Given the description of an element on the screen output the (x, y) to click on. 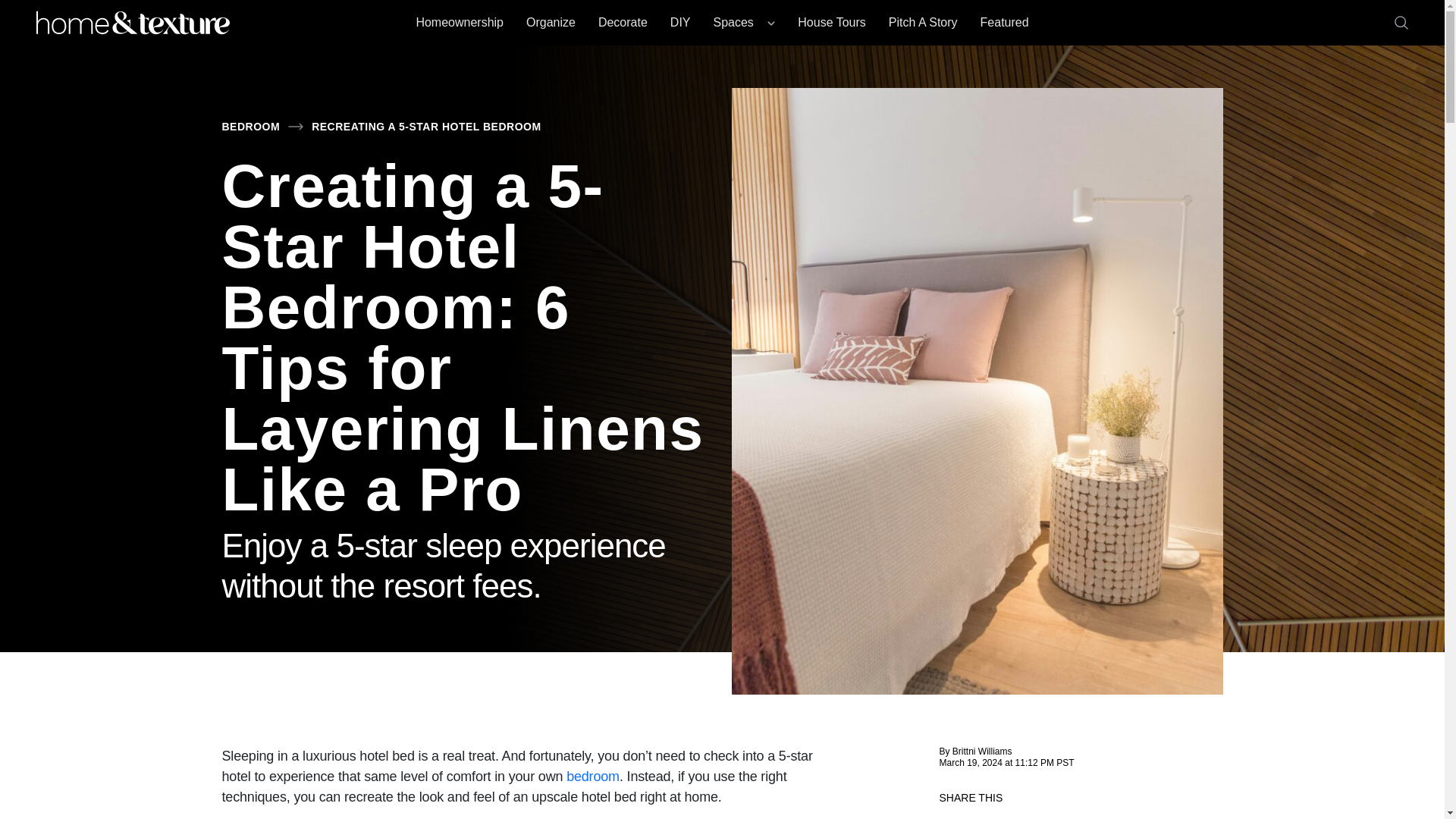
House Tours (832, 22)
Pitch A Story (922, 22)
Decorate (622, 22)
DIY (680, 22)
Organize (549, 22)
Spaces (743, 22)
Featured (1004, 22)
Homeownership (459, 22)
Brittni Williams (981, 751)
